Given the description of an element on the screen output the (x, y) to click on. 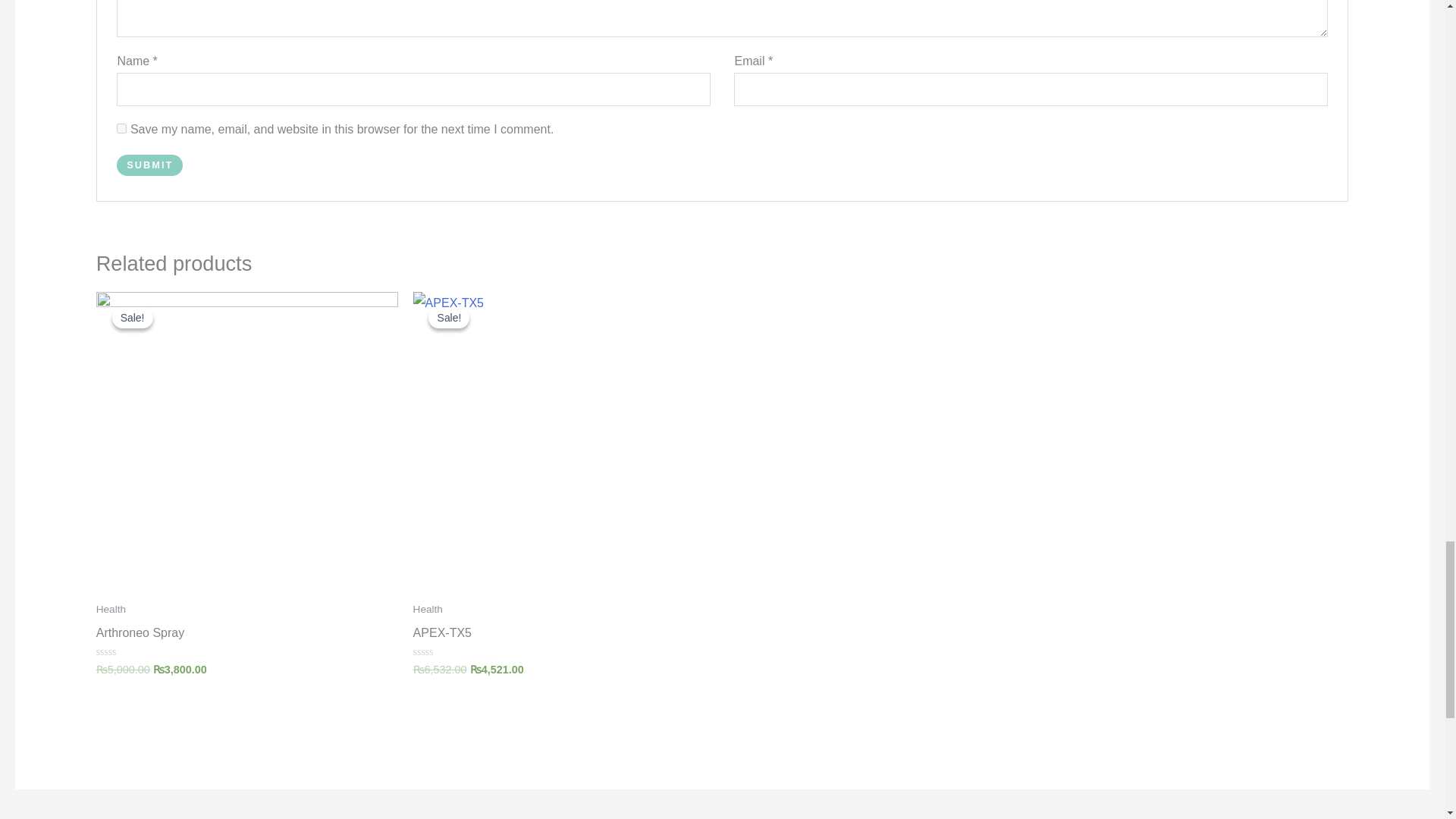
Arthroneo Spray (246, 636)
Submit (149, 165)
yes (121, 128)
APEX-TX5 (563, 636)
Submit (149, 165)
